Given the description of an element on the screen output the (x, y) to click on. 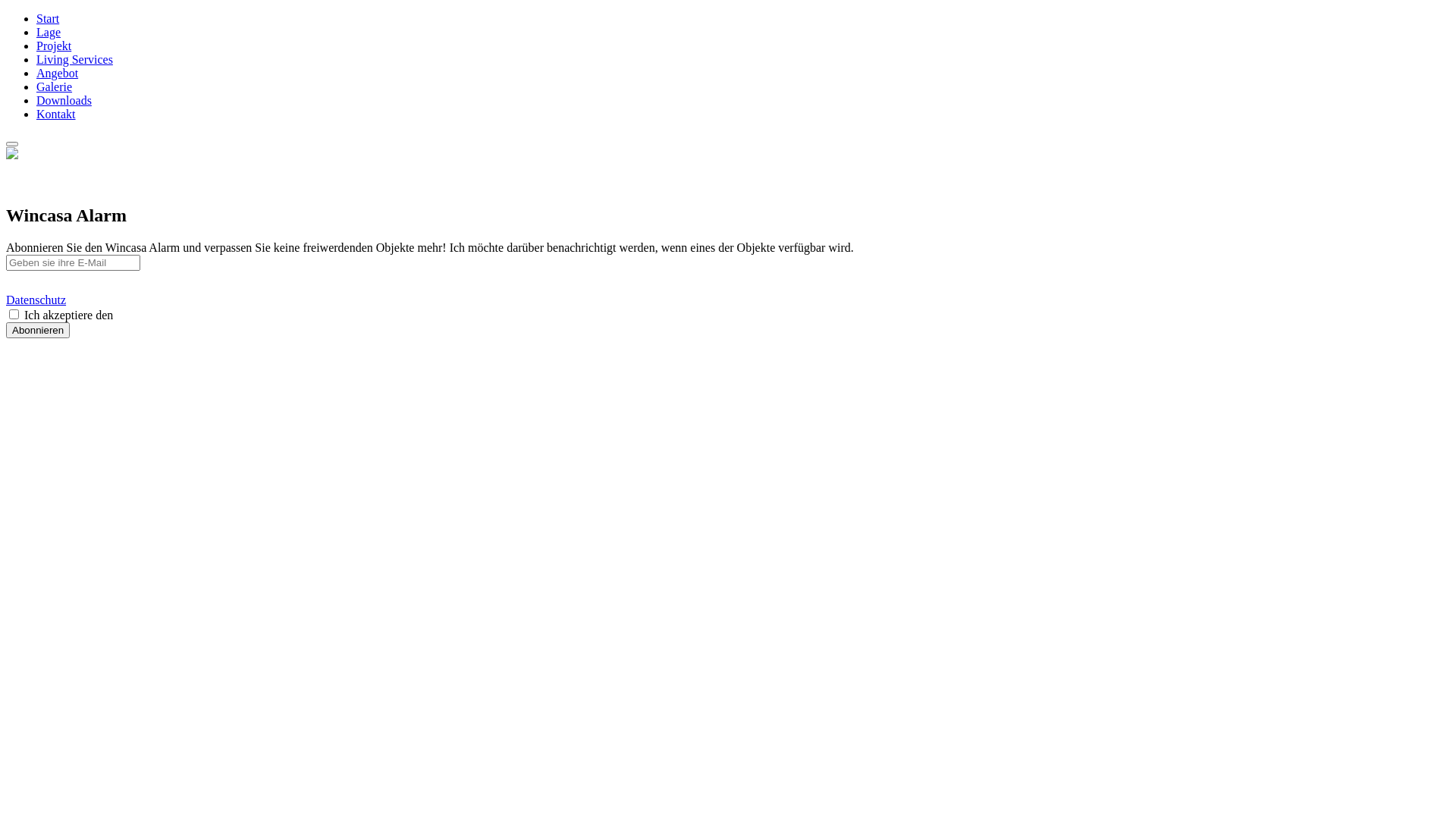
Angebot Element type: text (57, 72)
Lage Element type: text (48, 31)
Projekt Element type: text (53, 45)
Start Element type: text (47, 18)
Downloads Element type: text (63, 100)
Galerie Element type: text (54, 86)
Datenschutz Element type: text (35, 299)
Living Services Element type: text (74, 59)
Abonnieren Element type: text (37, 330)
Kontakt Element type: text (55, 113)
